Given the description of an element on the screen output the (x, y) to click on. 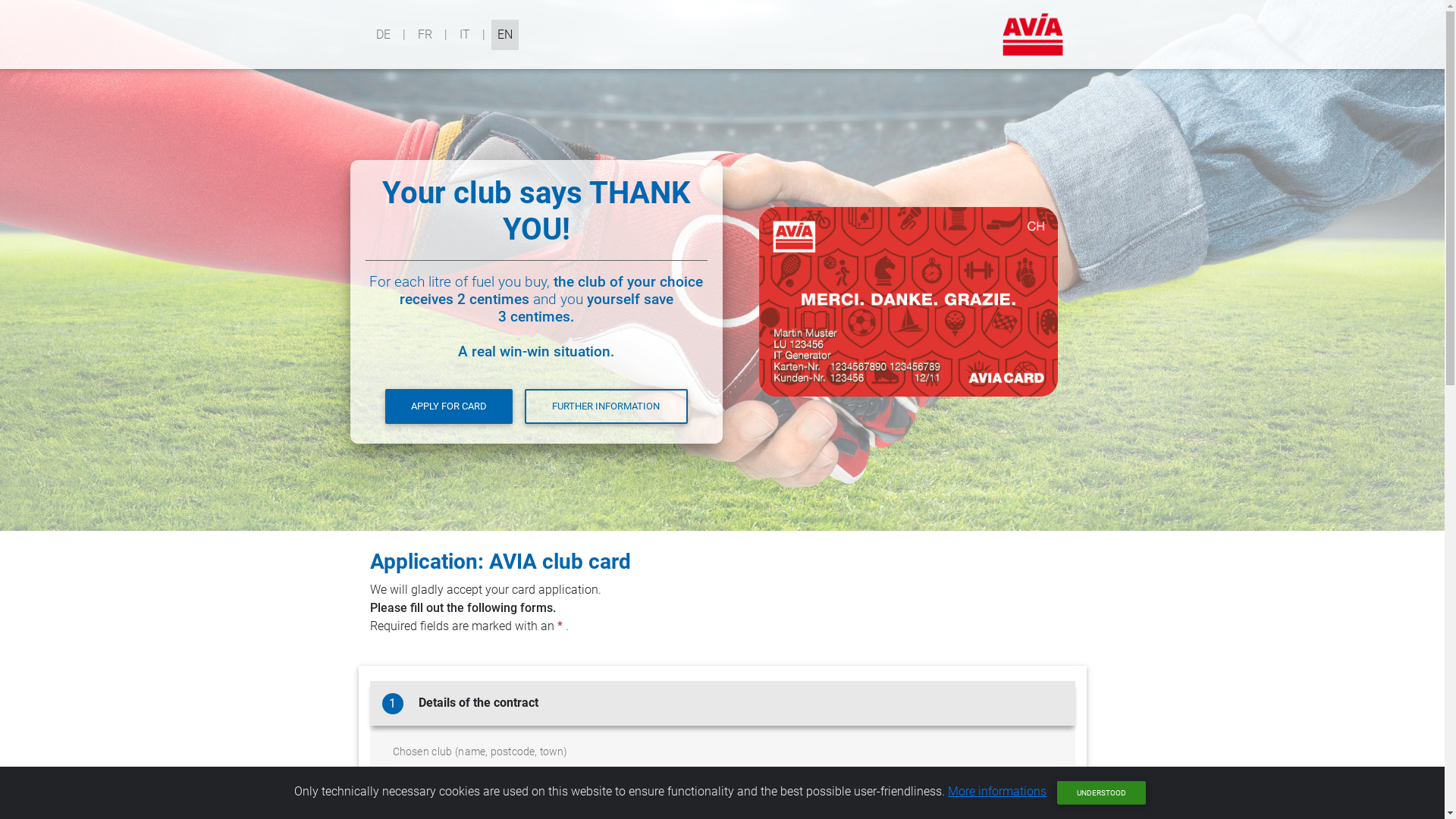
More informations Element type: text (996, 791)
UNDERSTOOD Element type: text (1101, 792)
APPLY FOR CARD Element type: text (448, 406)
FURTHER INFORMATION Element type: text (605, 406)
